Given the description of an element on the screen output the (x, y) to click on. 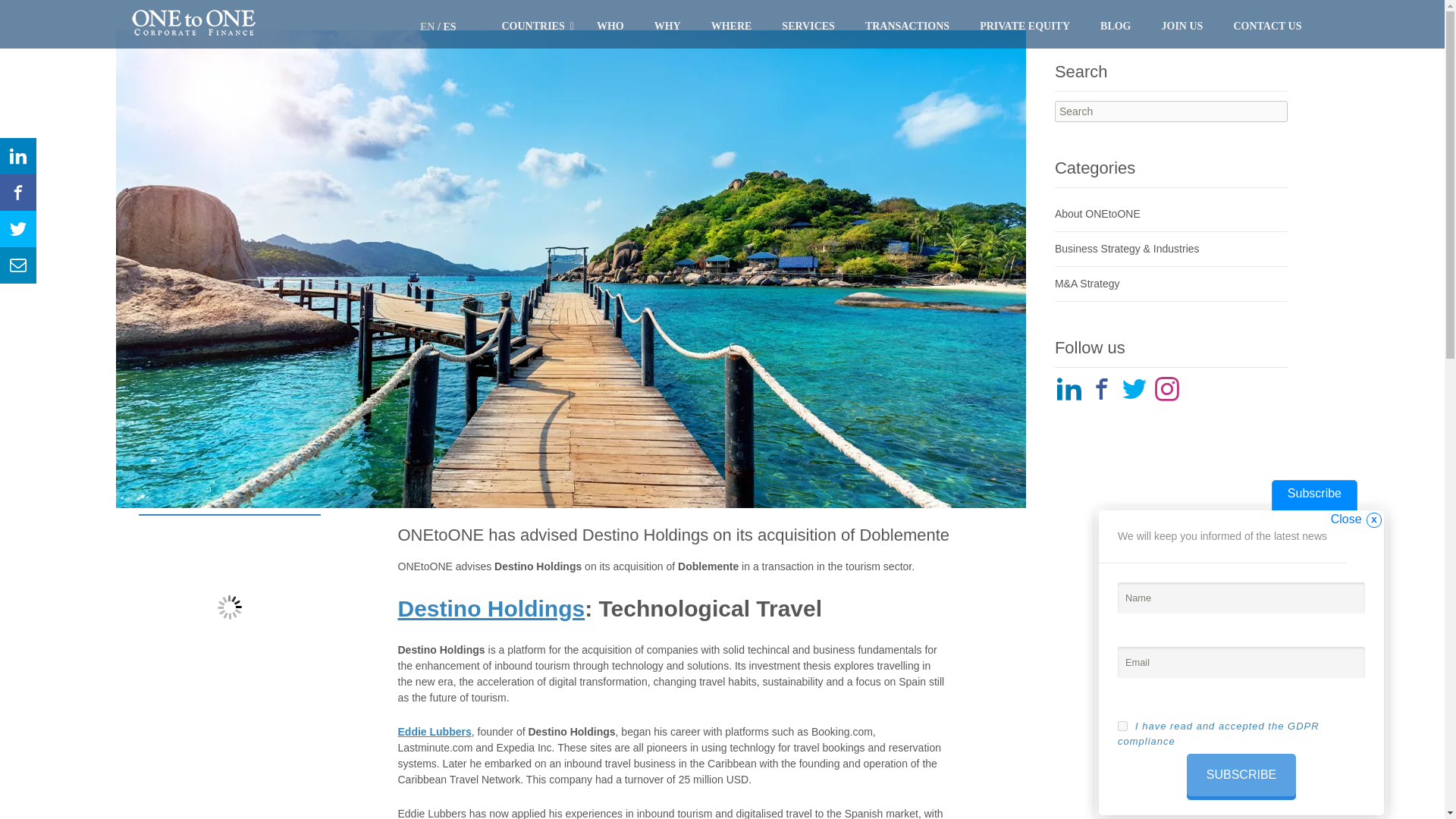
Follow us on Facebook (1101, 388)
PRIVATE EQUITY (1024, 25)
COUNTRIES  (537, 25)
Search for: (1170, 111)
ONEtoONE Corporate Finance (193, 24)
ES (448, 26)
WHERE (731, 25)
TRANSACTIONS (906, 25)
Check out our Instagram (1166, 388)
SERVICES (807, 25)
Find us on Linkedin (1069, 388)
SUBSCRIBE (1240, 774)
1 (1122, 726)
Follow us on Twitter (1134, 388)
